Given the description of an element on the screen output the (x, y) to click on. 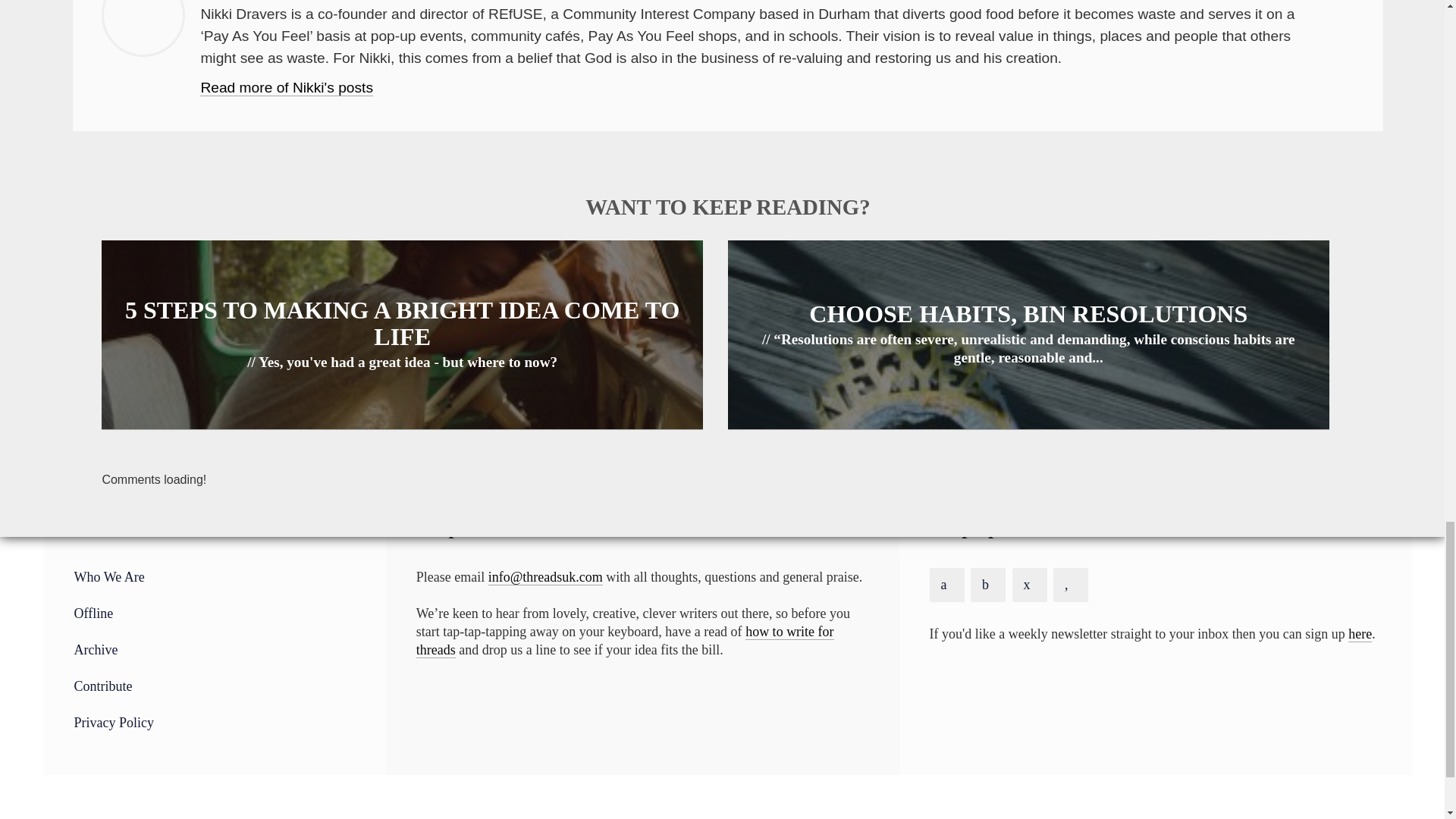
Read more of Nikki's posts (286, 87)
Avatar for Nikki Dravers (142, 28)
